Given the description of an element on the screen output the (x, y) to click on. 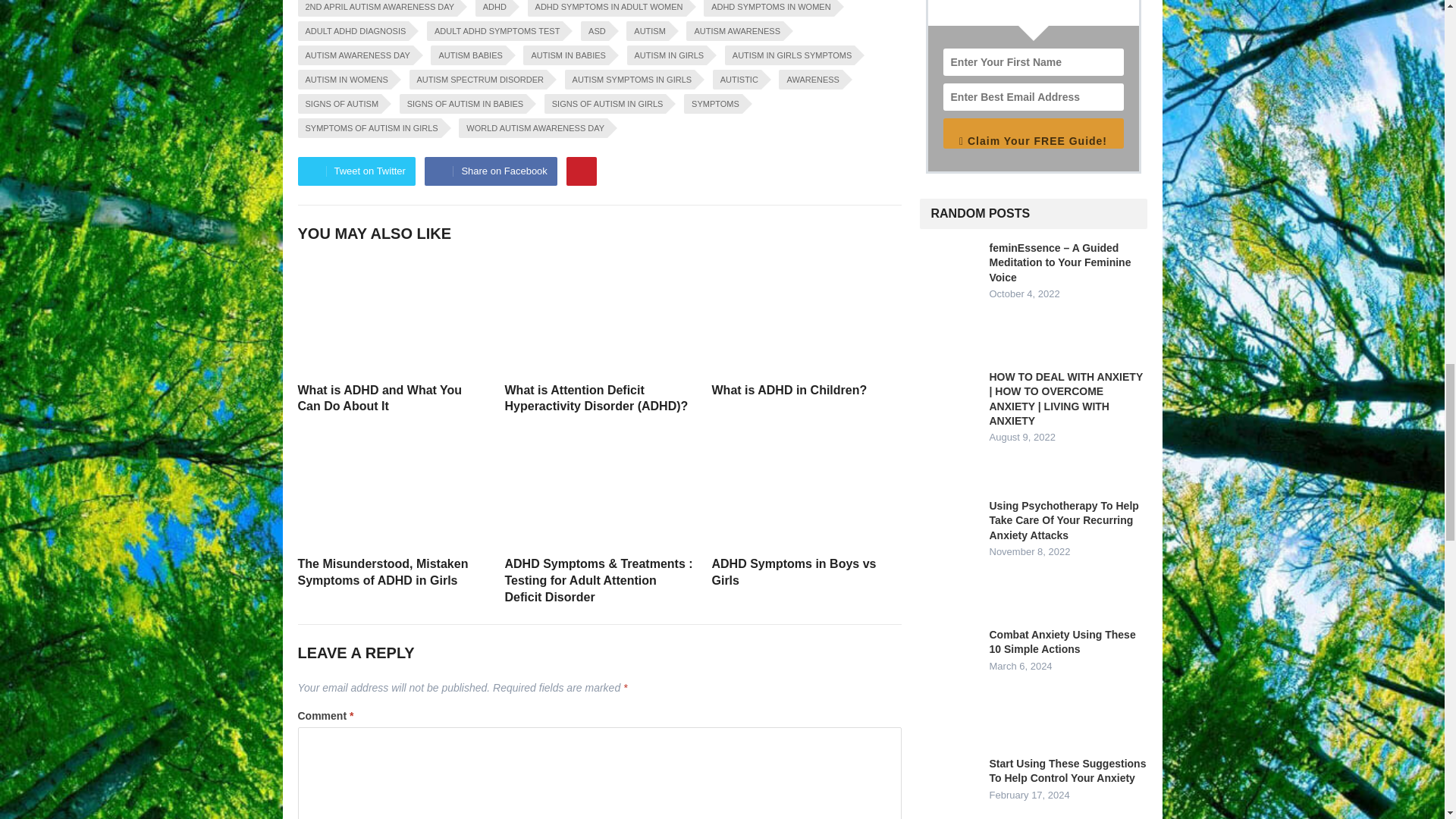
ADHD SYMPTOMS IN ADULT WOMEN (606, 8)
AUTISM AWARENESS (734, 30)
2ND APRIL AUTISM AWARENESS DAY (377, 8)
ADULT ADHD DIAGNOSIS (353, 30)
ADULT ADHD SYMPTOMS TEST (494, 30)
ASD (594, 30)
ADHD SYMPTOMS IN WOMEN (767, 8)
ADHD (492, 8)
AUTISM (647, 30)
